Given the description of an element on the screen output the (x, y) to click on. 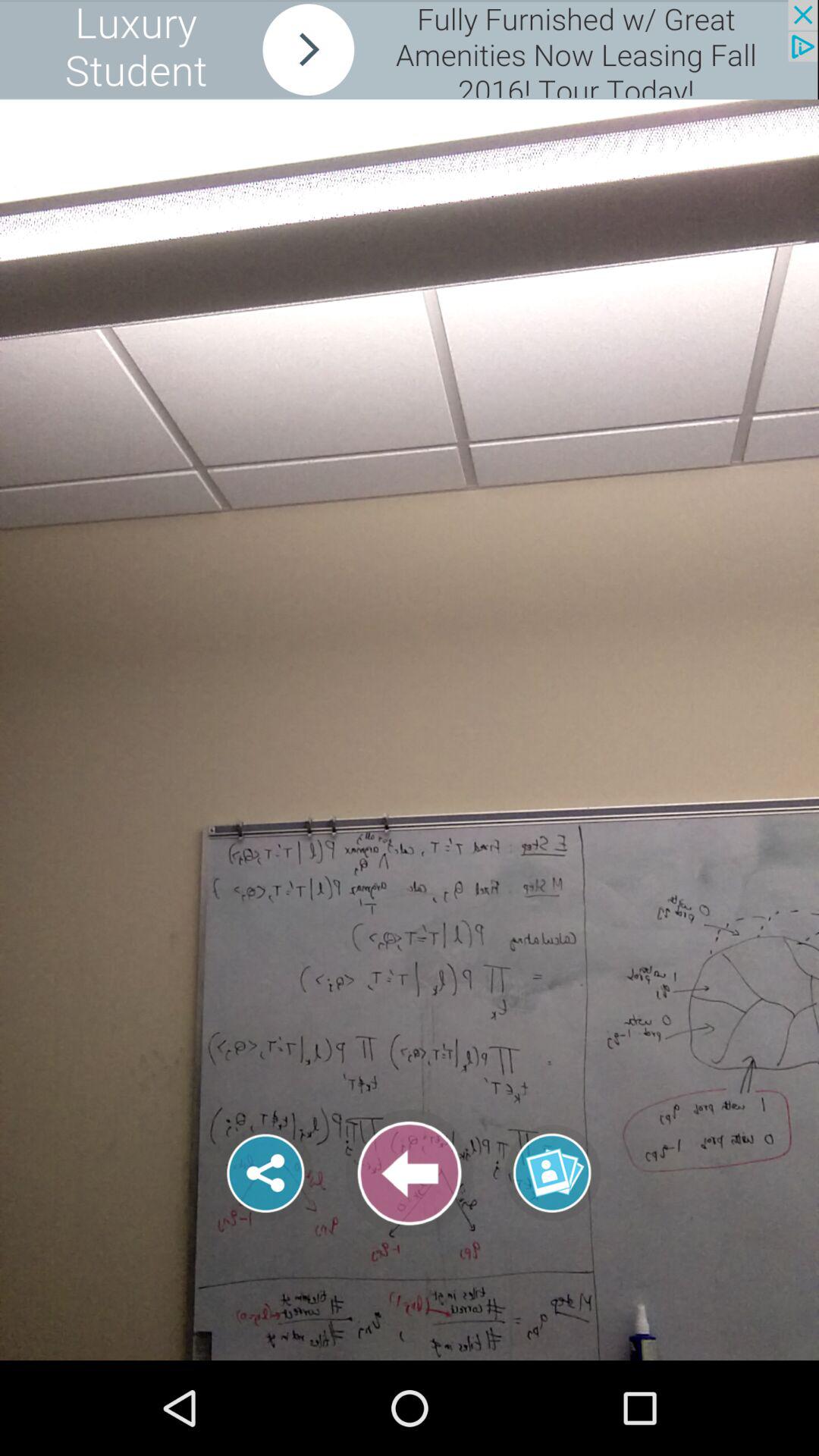
go back (409, 1173)
